Given the description of an element on the screen output the (x, y) to click on. 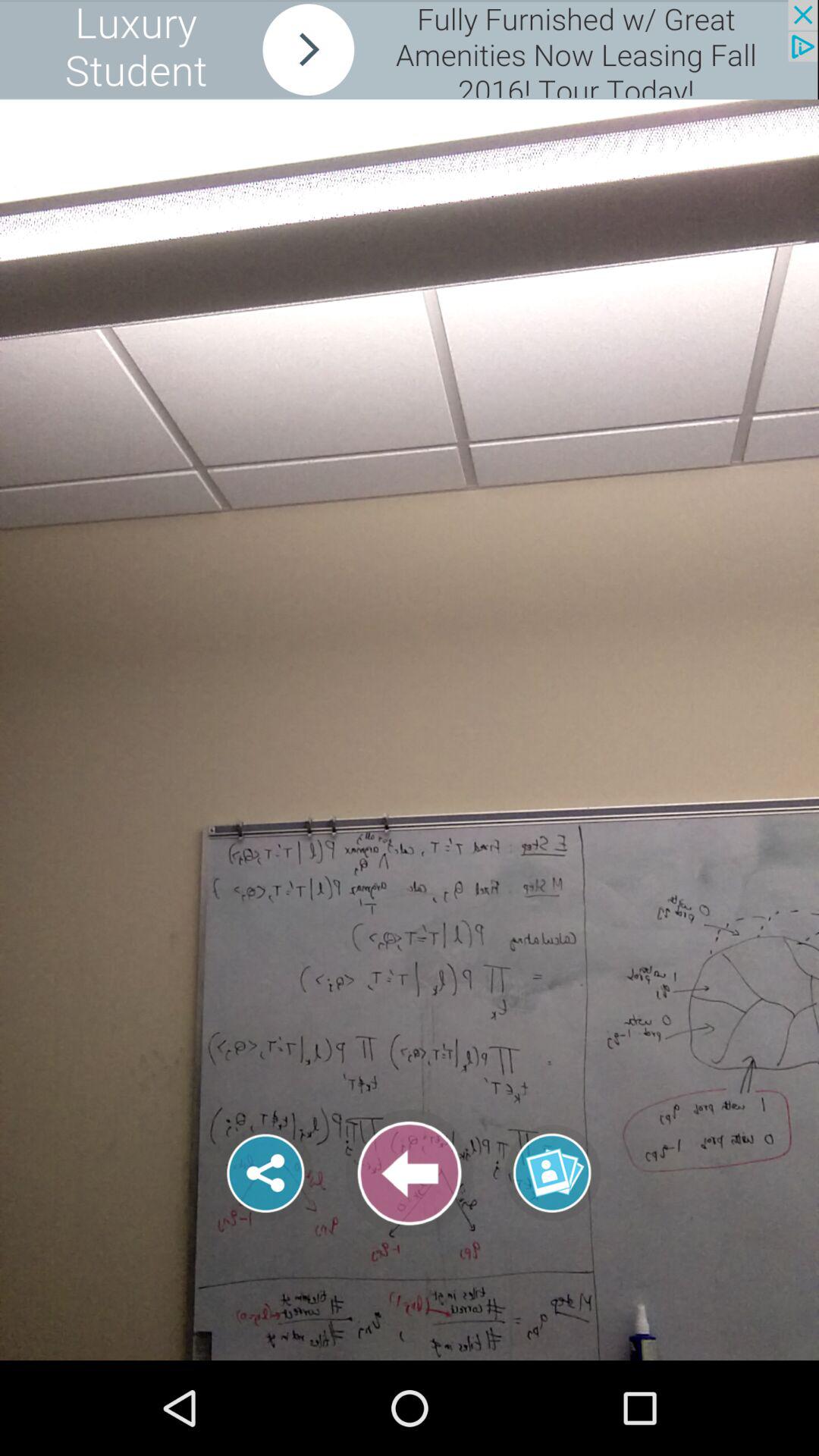
go back (409, 1173)
